Given the description of an element on the screen output the (x, y) to click on. 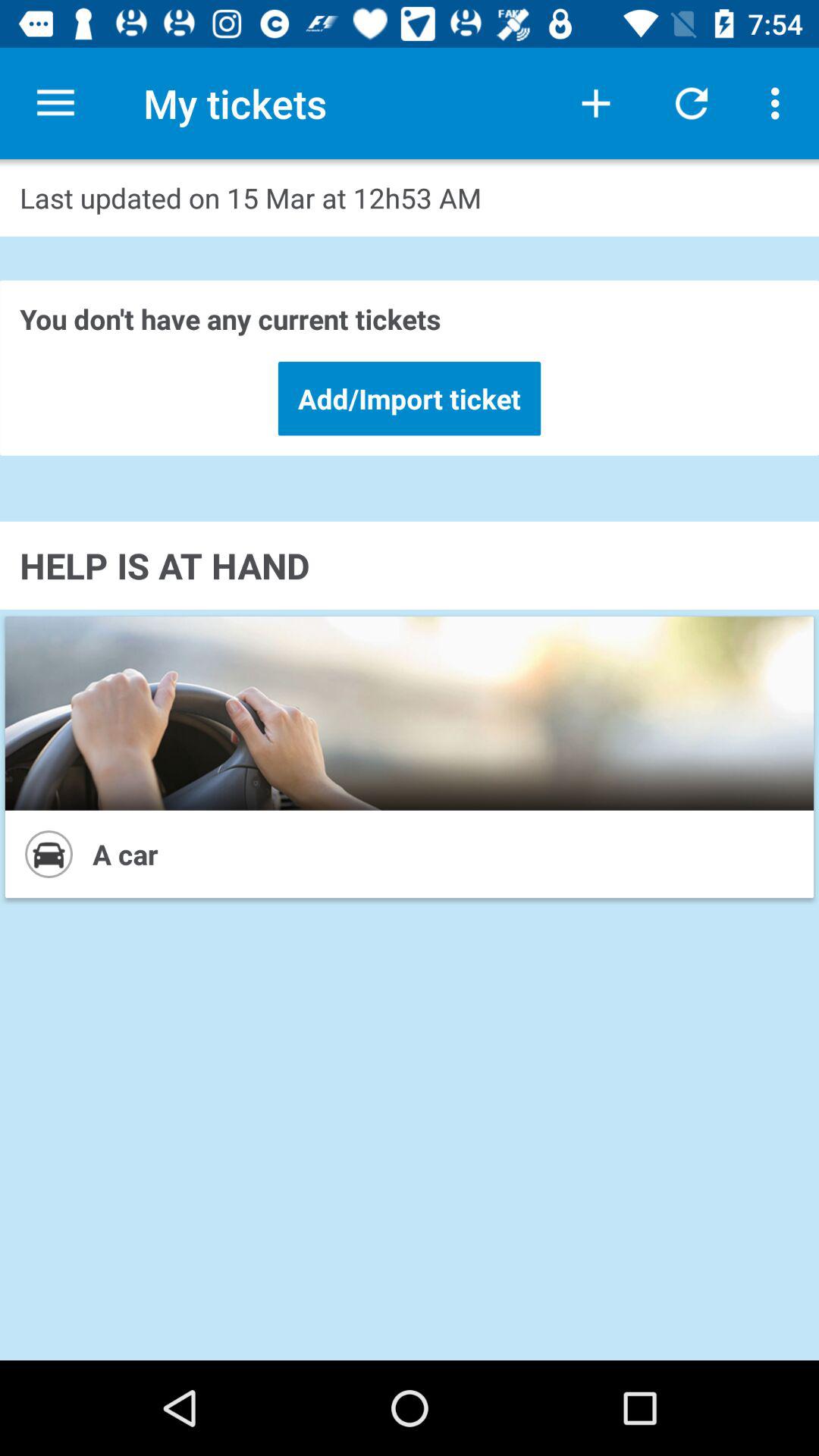
open the add/import ticket (409, 398)
